Given the description of an element on the screen output the (x, y) to click on. 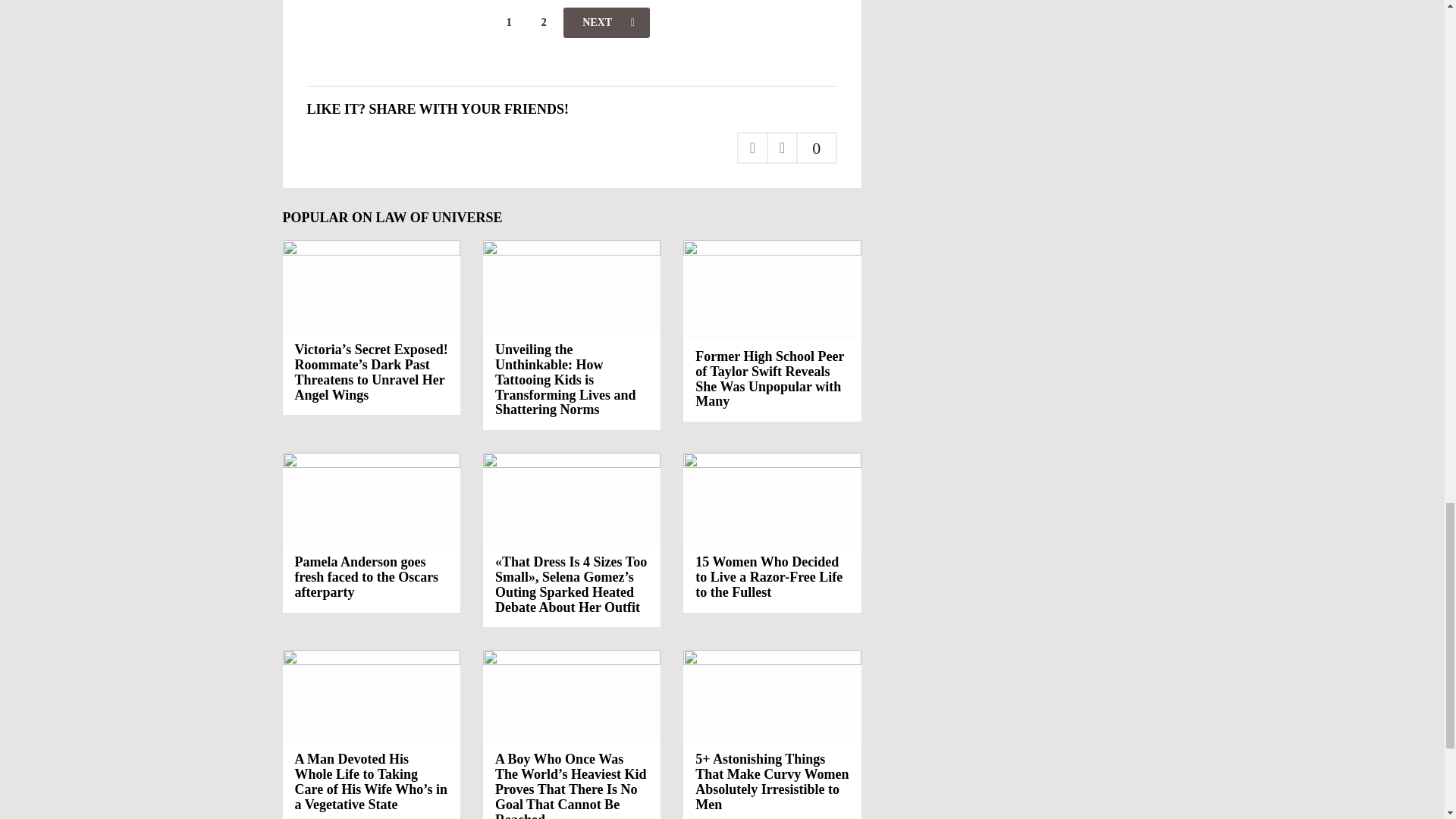
NEXT (606, 22)
Pamela Anderson goes fresh faced to the Oscars afterparty (366, 576)
2 (543, 22)
Pamela Anderson goes fresh faced to the Oscars afterparty (371, 499)
